Given the description of an element on the screen output the (x, y) to click on. 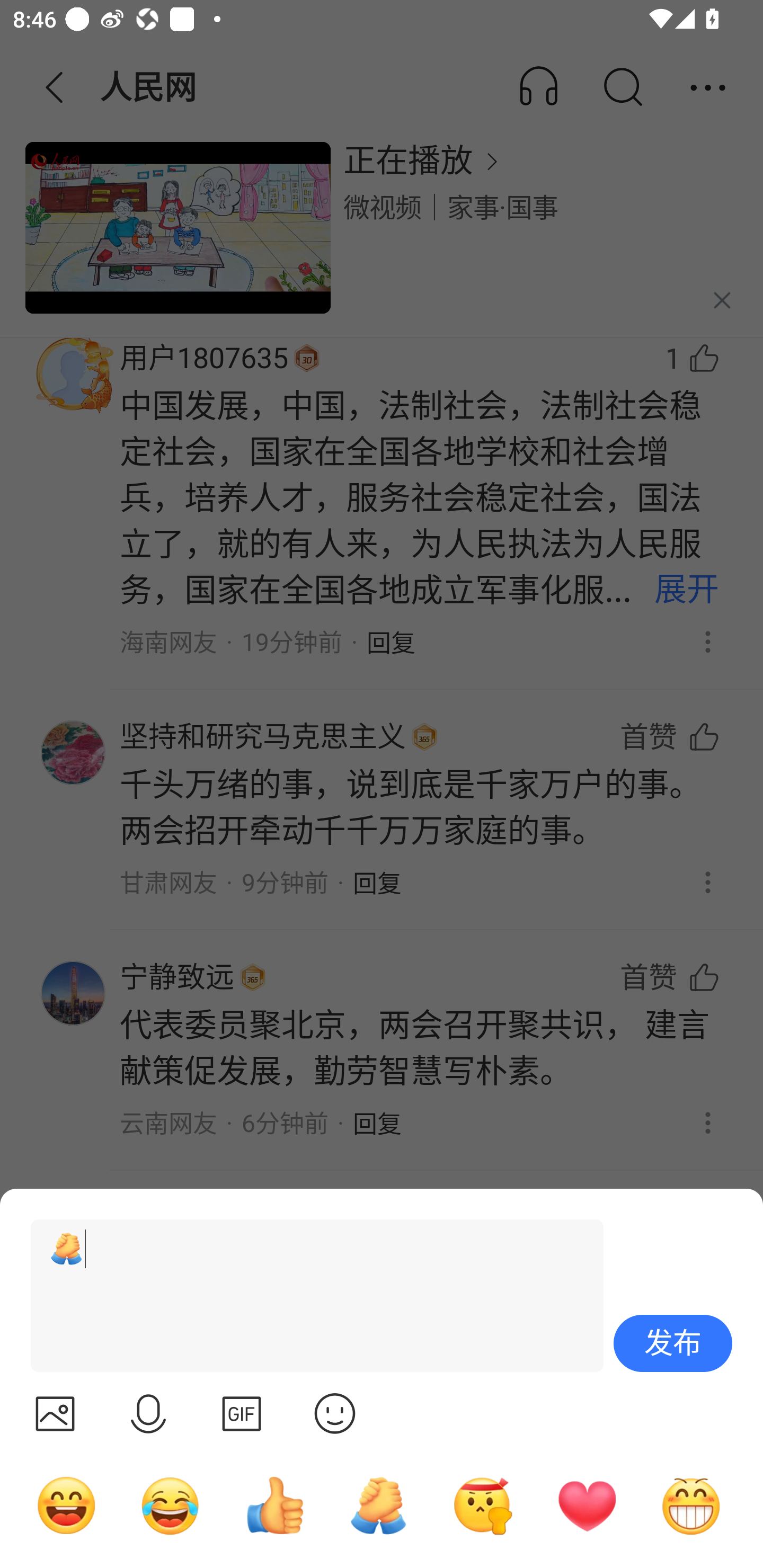
[加油] (308, 1295)
发布 (672, 1343)
 (54, 1413)
 (148, 1413)
 (241, 1413)
 (334, 1413)
哈哈 (66, 1505)
哭笑 (170, 1505)
点赞 (274, 1505)
加油 (378, 1505)
奋斗 (482, 1505)
心 (586, 1505)
呲牙 (690, 1505)
